Given the description of an element on the screen output the (x, y) to click on. 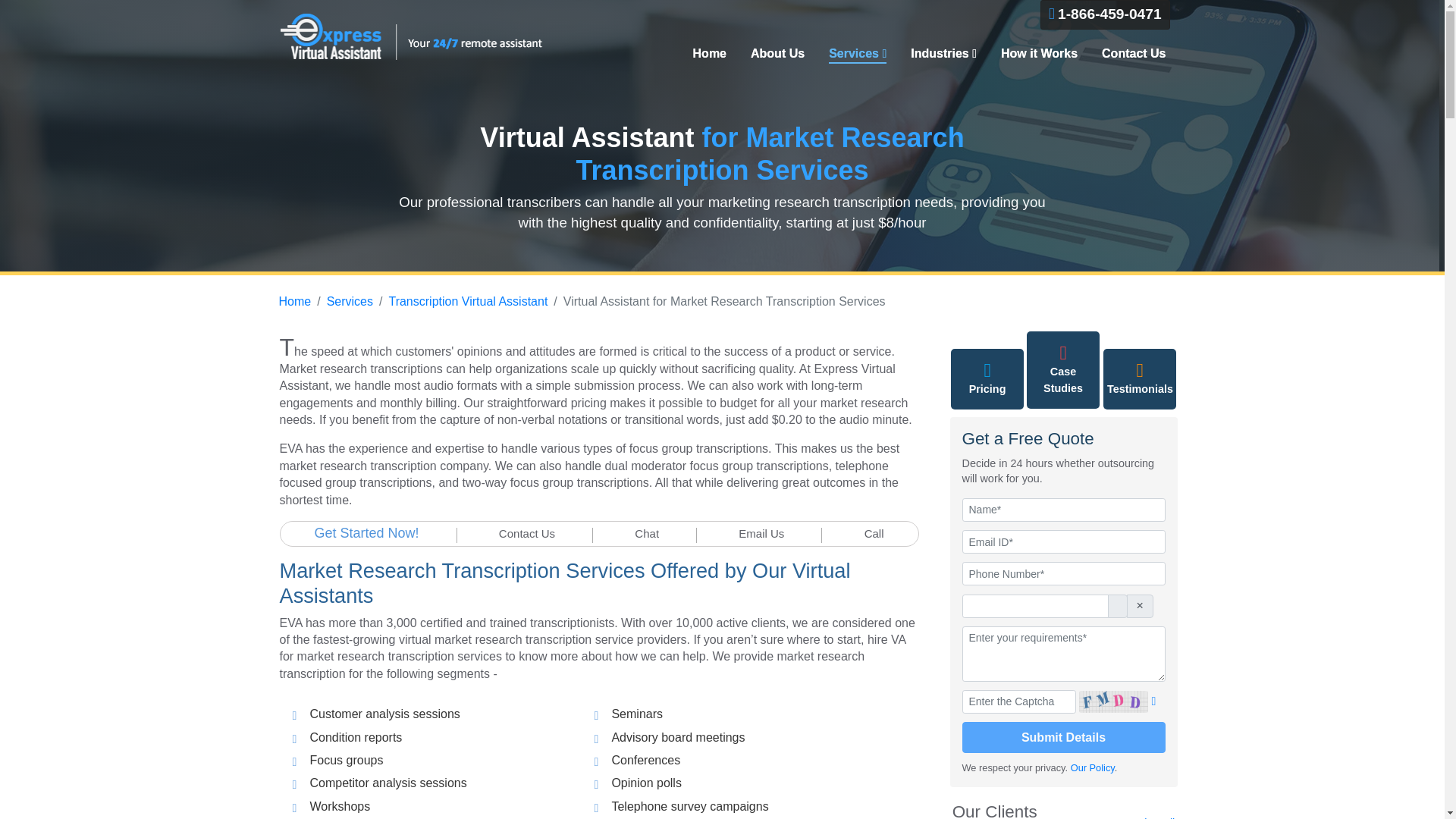
Home (709, 53)
Contact Us (1127, 53)
Contact Us (526, 533)
1-866-459-0471 (1105, 14)
Services (857, 54)
About Us (777, 53)
Contact Us (1127, 53)
Email Us (761, 533)
Industries (943, 53)
About Us (777, 53)
How it Works (1038, 53)
Transcription Virtual Assistant (467, 300)
Home (709, 53)
Chat (646, 533)
Services (857, 54)
